Given the description of an element on the screen output the (x, y) to click on. 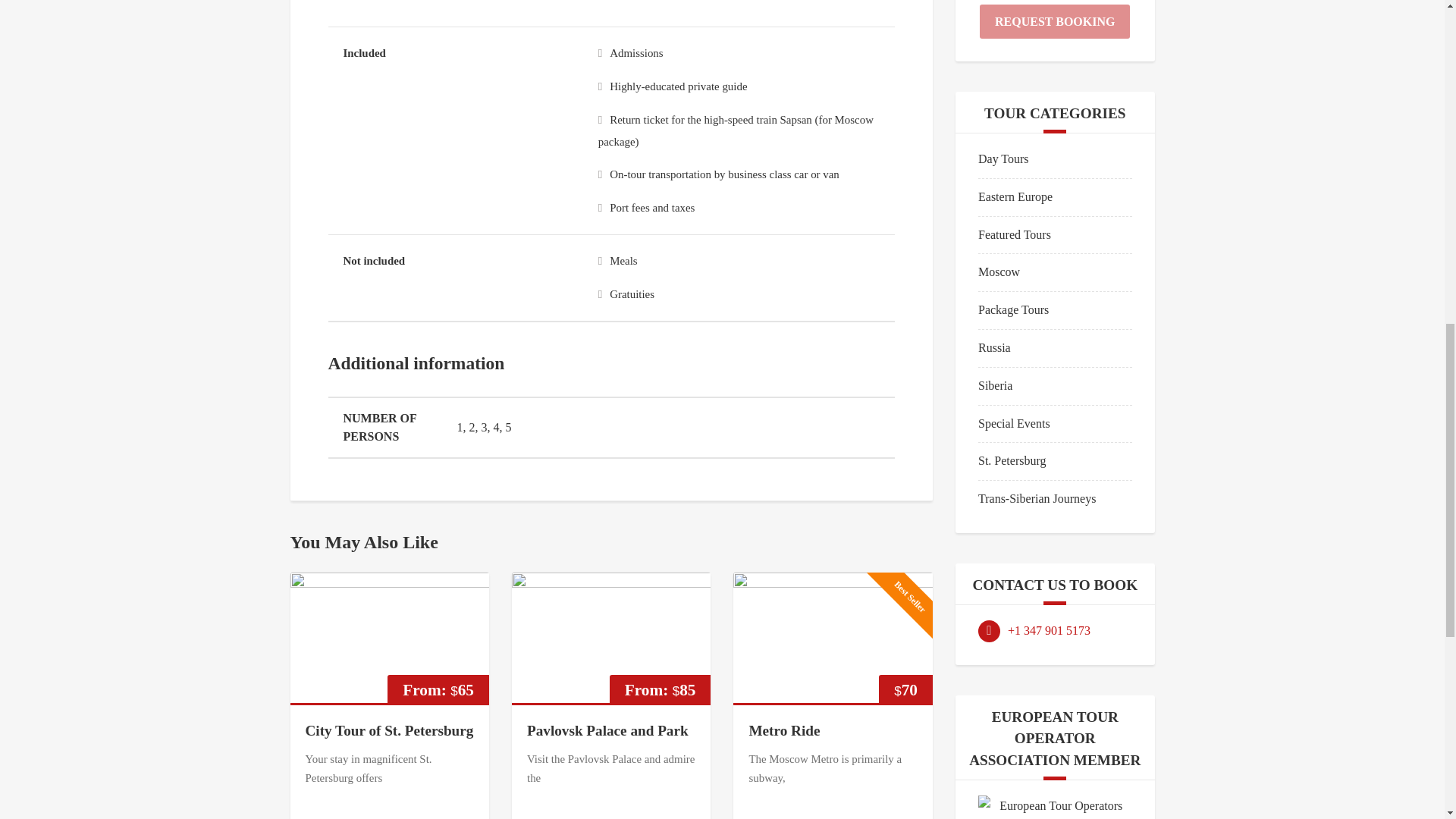
Metro Ride (783, 730)
Pavlovsk Palace and Park (607, 730)
Request Booking (1054, 21)
City Tour of St. Petersburg (388, 730)
